Given the description of an element on the screen output the (x, y) to click on. 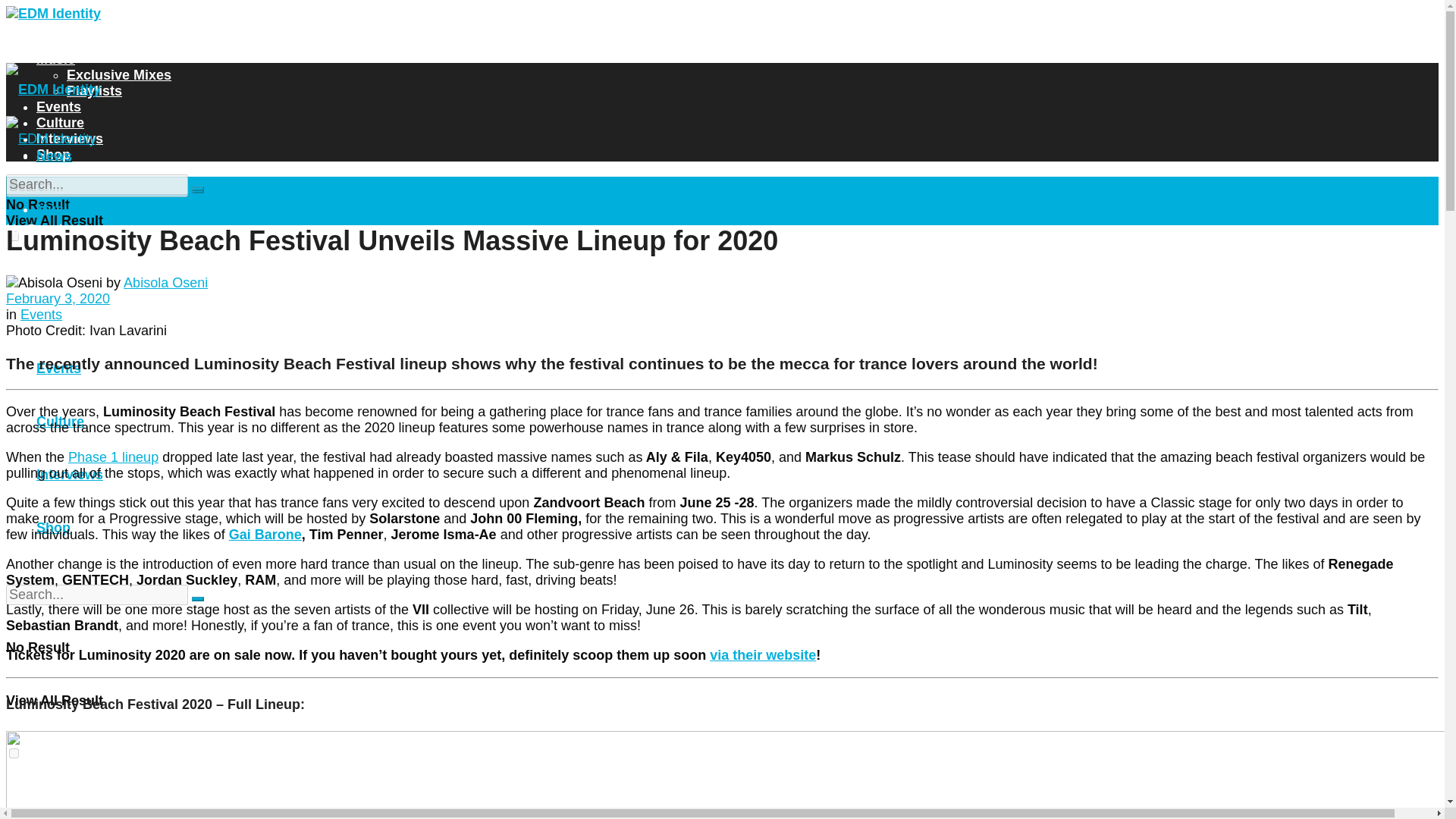
Culture (60, 122)
Shop (52, 527)
Abisola Oseni (165, 282)
Events (58, 106)
Gai Barone (264, 534)
on (13, 753)
Shop (52, 154)
Events (41, 314)
Phase 1 lineup (113, 457)
Music (55, 209)
